Given the description of an element on the screen output the (x, y) to click on. 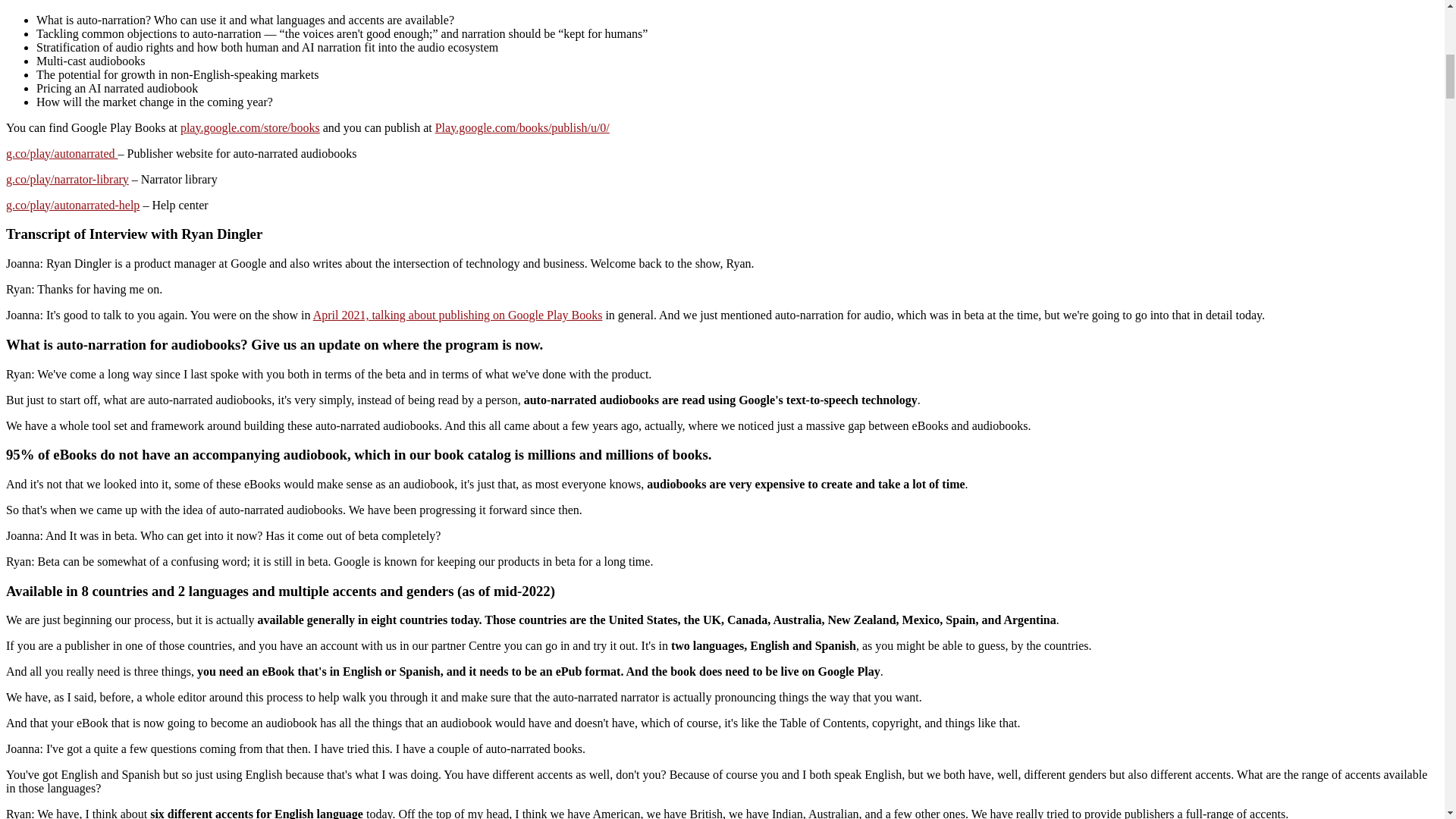
April 2021, talking about publishing on Google Play Books (457, 314)
